Given the description of an element on the screen output the (x, y) to click on. 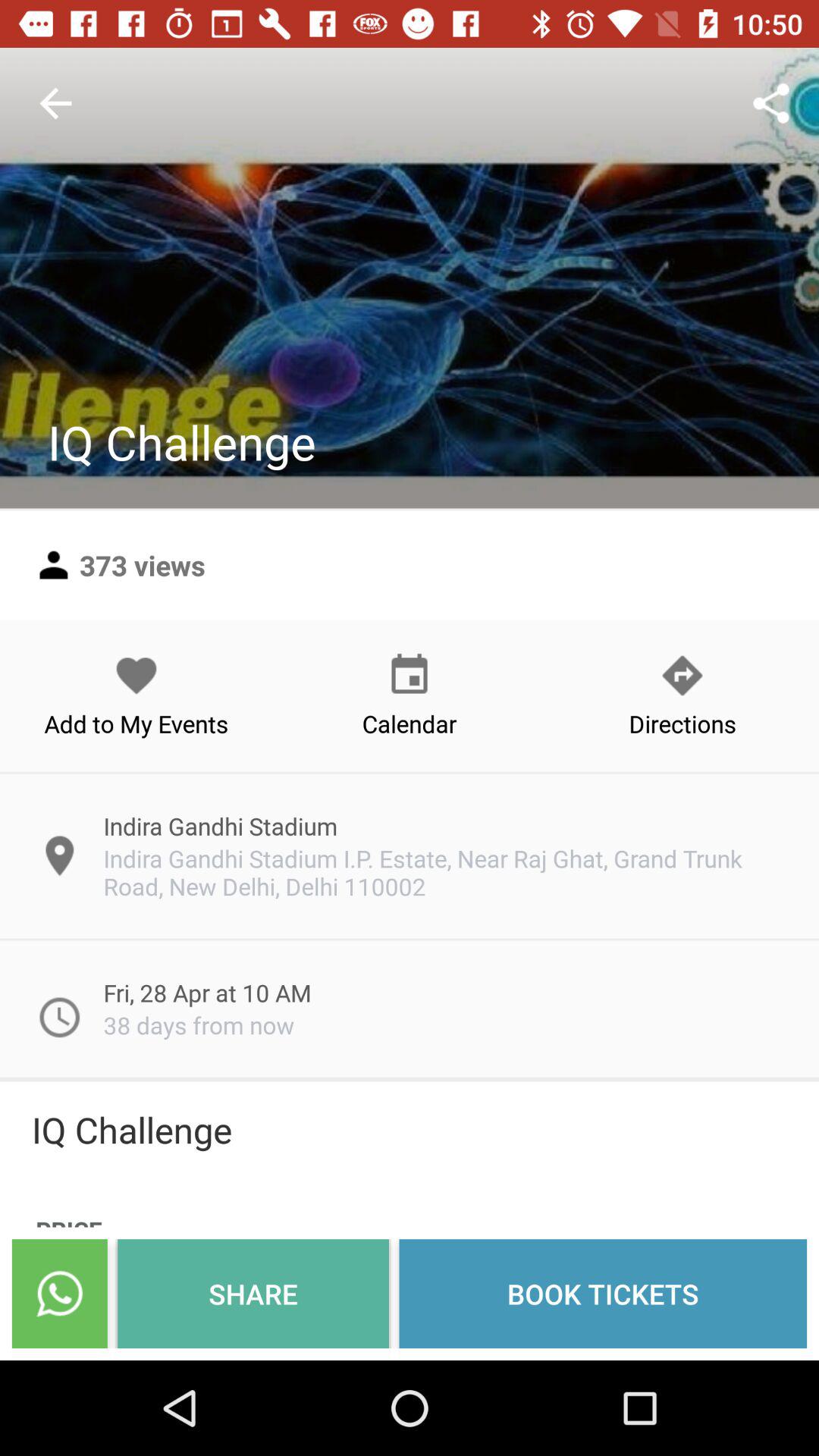
open item below the iq challenge icon (59, 1293)
